Given the description of an element on the screen output the (x, y) to click on. 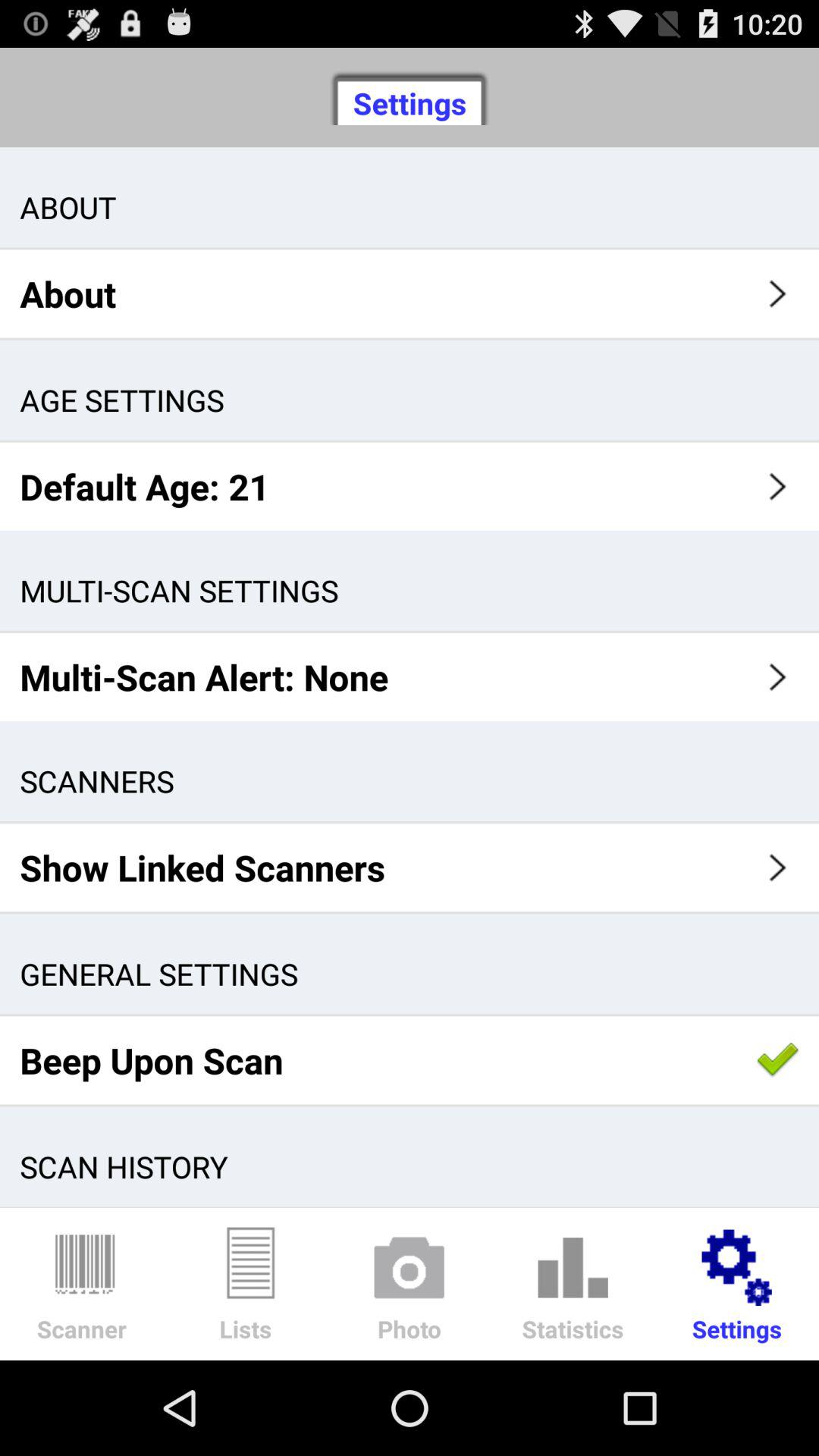
flip to the show linked scanners app (409, 867)
